Given the description of an element on the screen output the (x, y) to click on. 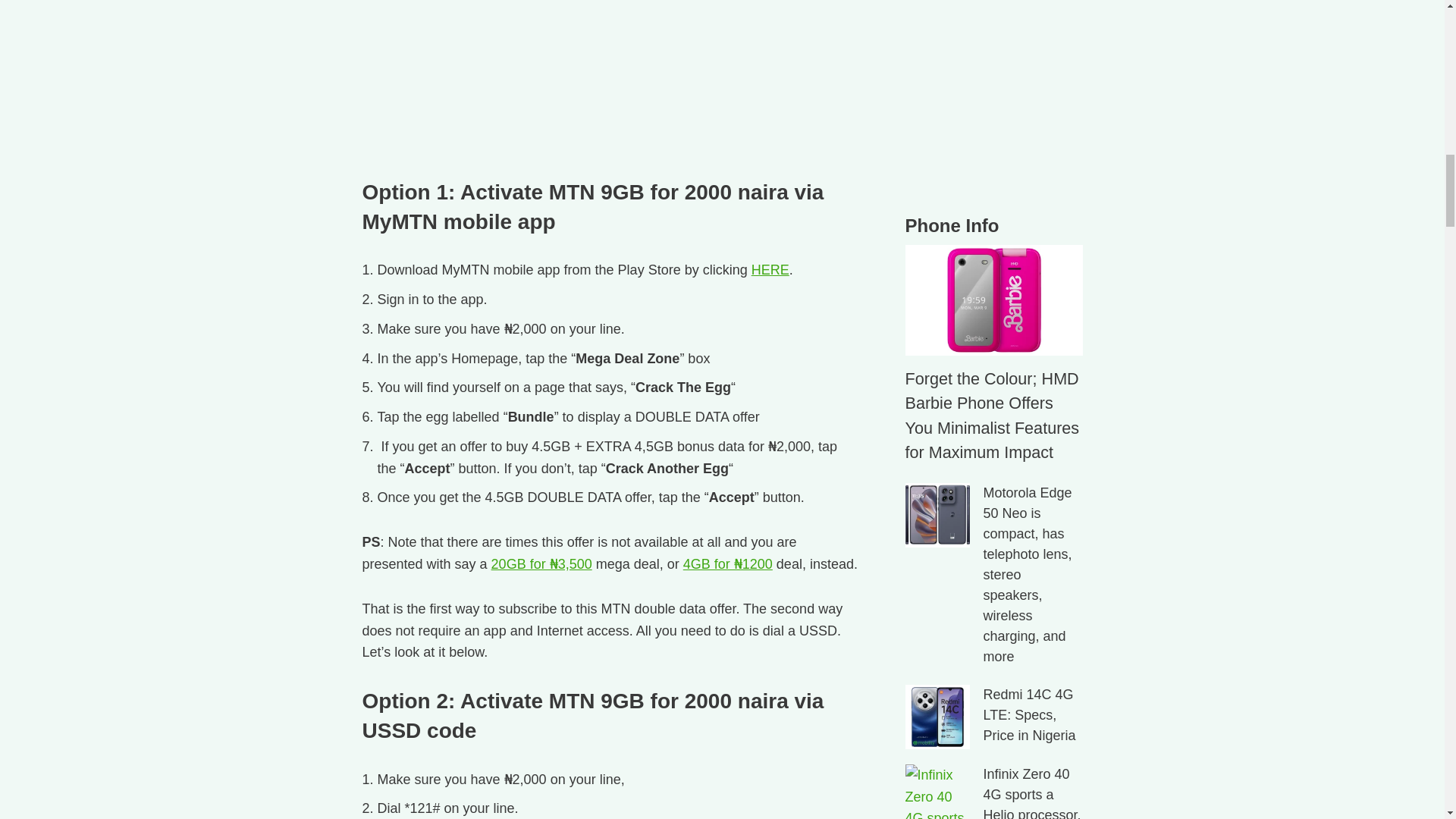
HERE (770, 269)
Infinix Zero 40 4G sports a Helio processor, IR Blaster, 6 (937, 791)
Redmi 14C 4G LTE: Specs, Price in Nigeria 5 (937, 716)
